Given the description of an element on the screen output the (x, y) to click on. 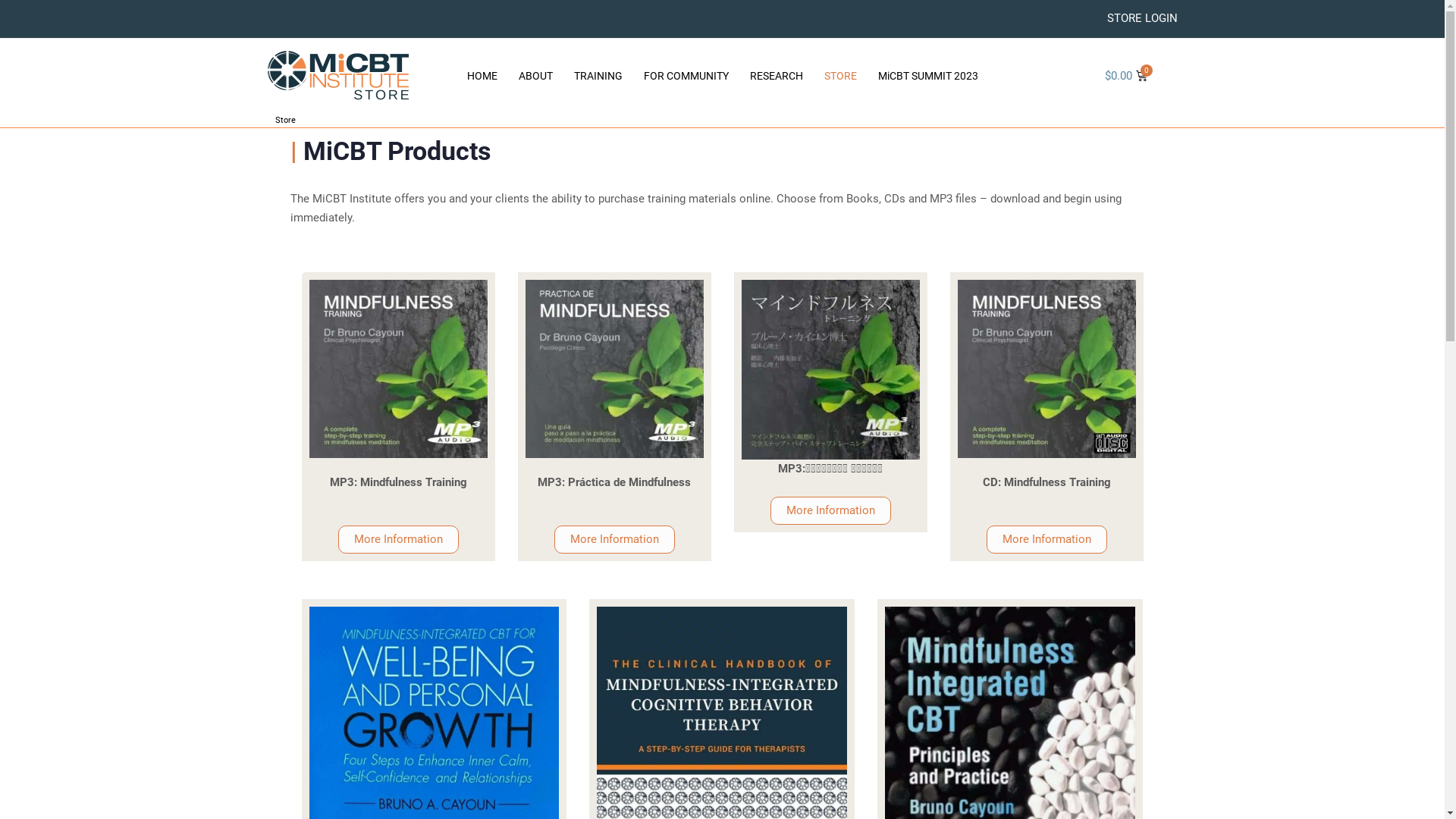
$0.00
0
Cart Element type: text (1125, 75)
TRAINING Element type: text (597, 75)
MiCBT SUMMIT 2023 Element type: text (927, 75)
STORE LOGIN Element type: text (1142, 18)
ABOUT Element type: text (535, 75)
STORE Element type: text (839, 75)
More Information Element type: text (1045, 539)
RESEARCH Element type: text (775, 75)
More Information Element type: text (398, 539)
FOR COMMUNITY Element type: text (685, 75)
More Information Element type: text (613, 539)
HOME Element type: text (482, 75)
More Information Element type: text (830, 510)
